Given the description of an element on the screen output the (x, y) to click on. 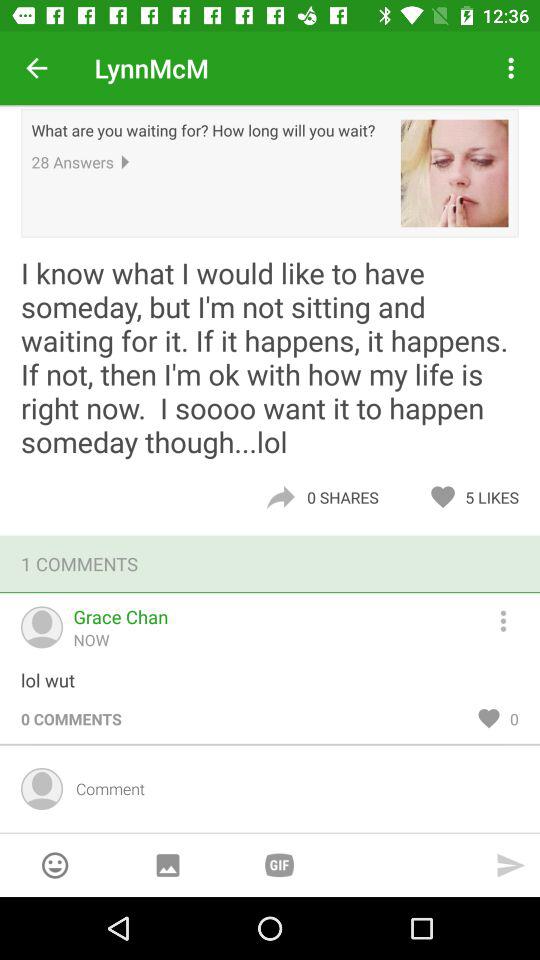
overflow menu (512, 618)
